Given the description of an element on the screen output the (x, y) to click on. 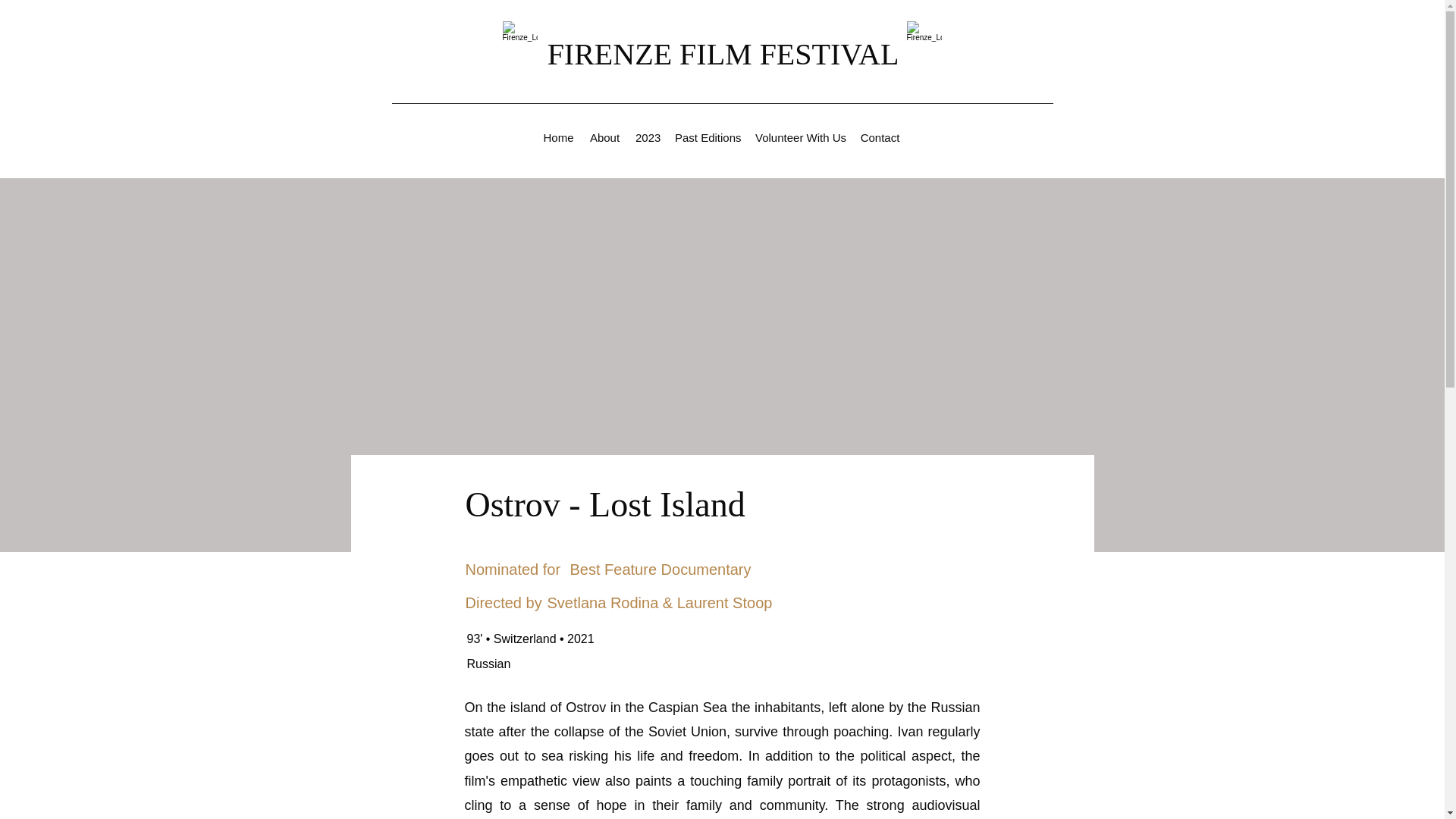
Volunteer With Us (799, 137)
FIRENZE FILM FESTIVAL (723, 53)
About (603, 137)
Home (557, 137)
Contact (879, 137)
2023 (646, 137)
